Given the description of an element on the screen output the (x, y) to click on. 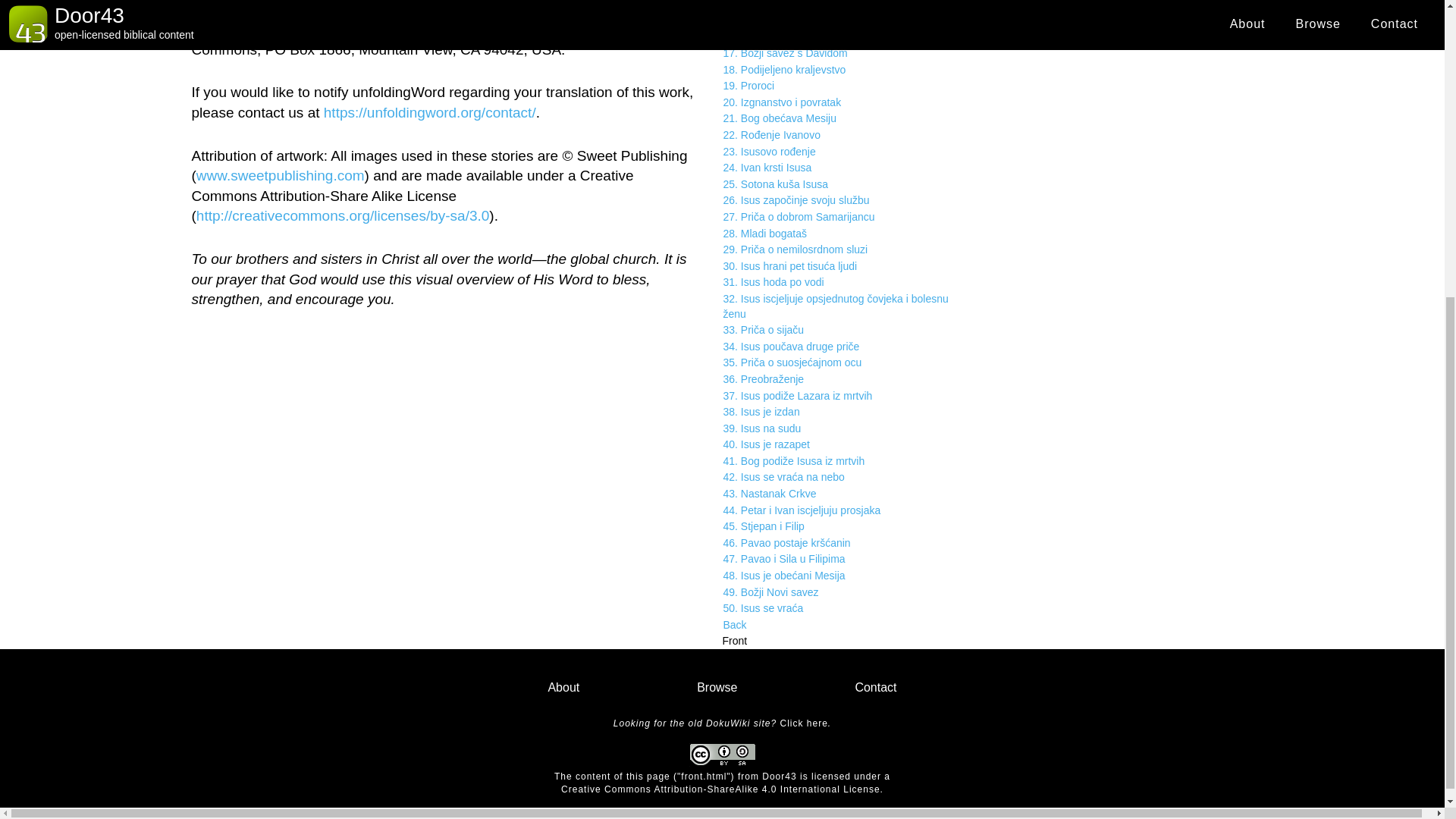
14. Lutanje po divljini (847, 6)
www.sweetpublishing.com (280, 175)
18. Podijeljeno kraljevstvo (847, 70)
16. Izbavitelji (847, 37)
